Given the description of an element on the screen output the (x, y) to click on. 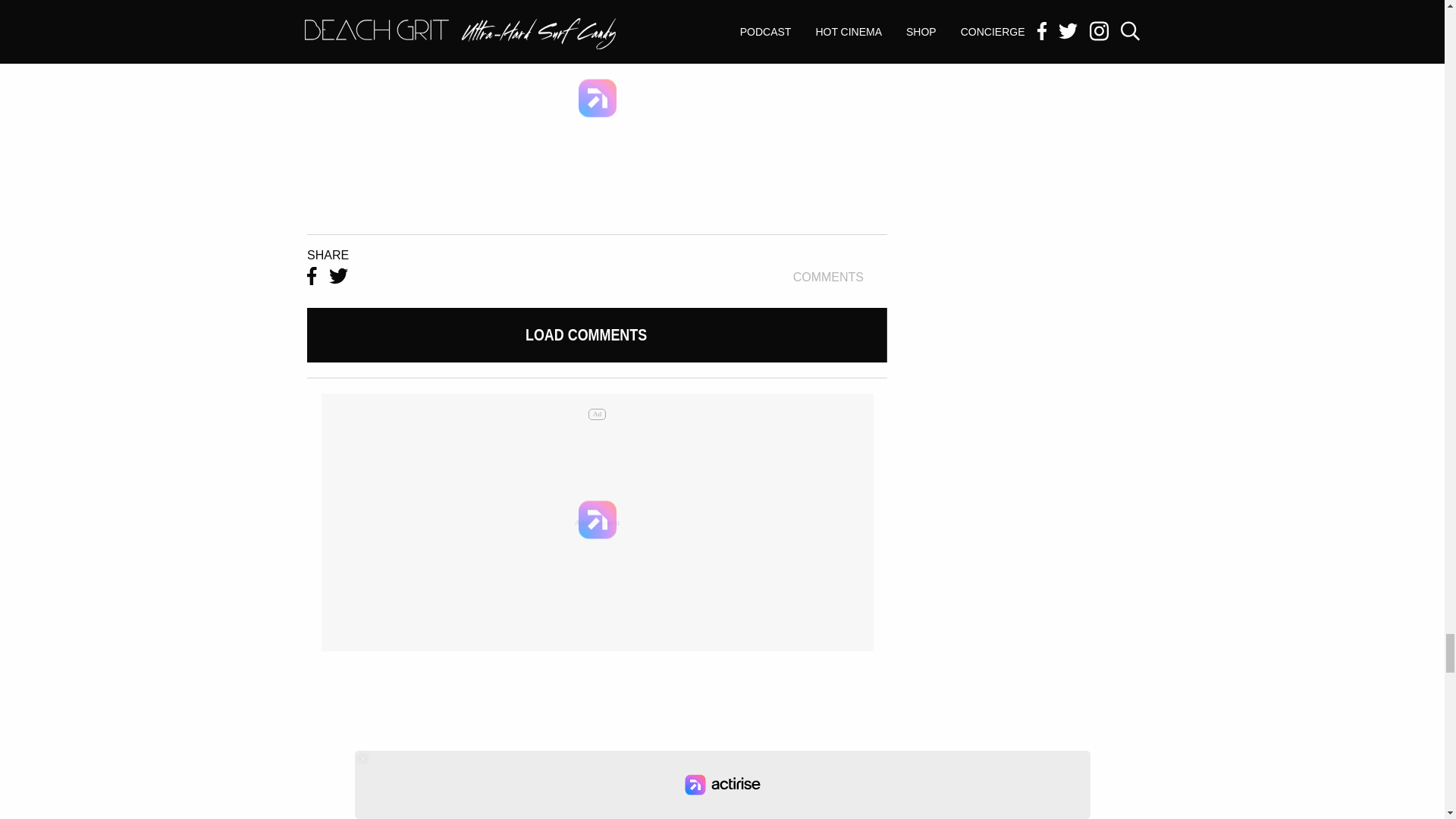
Share on Twitter (338, 276)
